Given the description of an element on the screen output the (x, y) to click on. 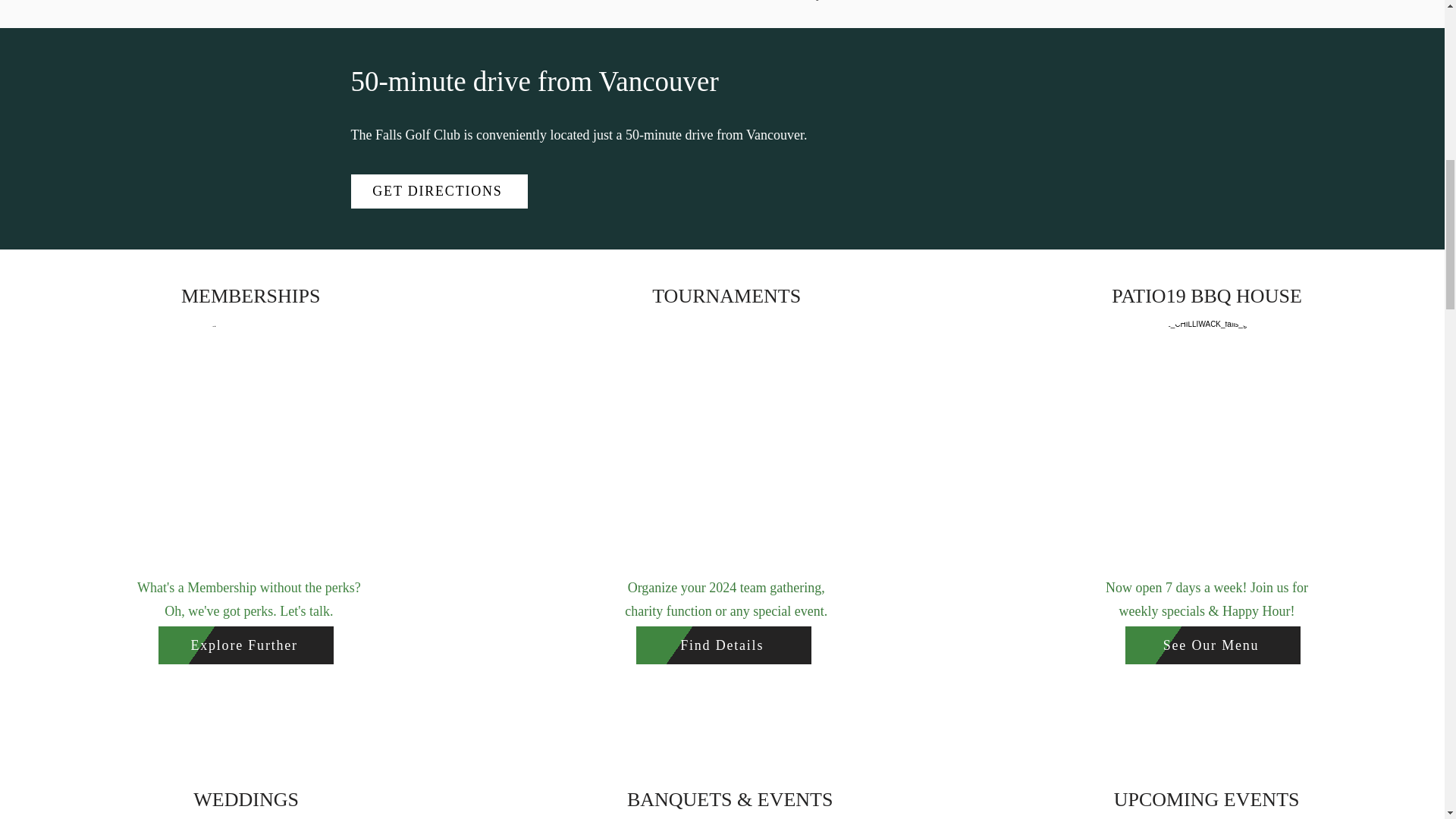
See Our Menu (1212, 645)
Explore Further (245, 645)
Find Details (723, 645)
Contact us (639, 0)
GET DIRECTIONS (438, 191)
